Given the description of an element on the screen output the (x, y) to click on. 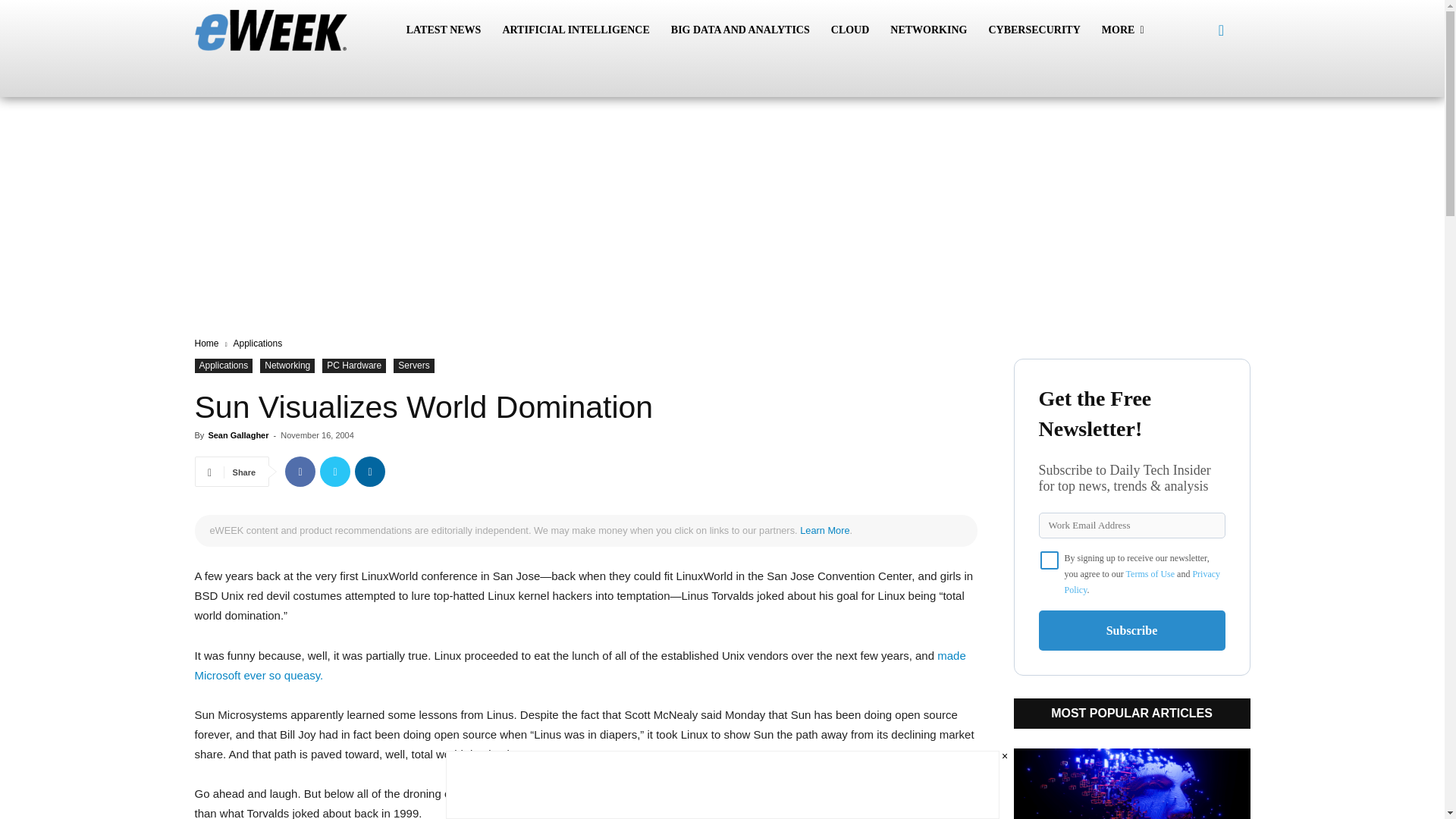
Facebook (300, 471)
BIG DATA AND ANALYTICS (741, 30)
on (1049, 560)
ARTIFICIAL INTELLIGENCE (575, 30)
CLOUD (850, 30)
NETWORKING (927, 30)
Twitter (335, 471)
Linkedin (370, 471)
LATEST NEWS (444, 30)
CYBERSECURITY (1033, 30)
